Given the description of an element on the screen output the (x, y) to click on. 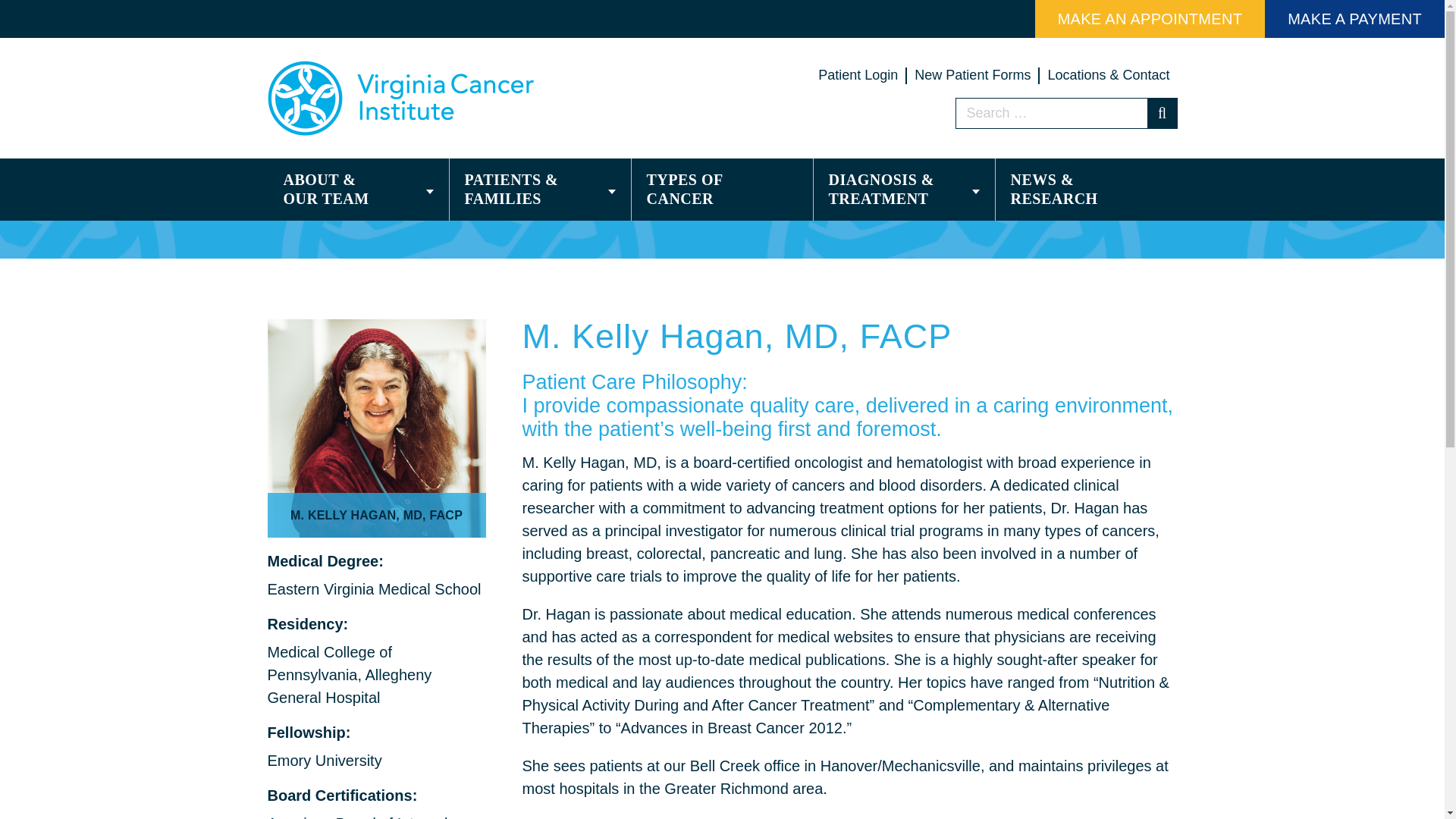
Patient Login (858, 74)
Search (1161, 112)
Search (1161, 112)
MAKE AN APPOINTMENT (1150, 18)
New Patient Forms (972, 74)
Search (1161, 112)
